Given the description of an element on the screen output the (x, y) to click on. 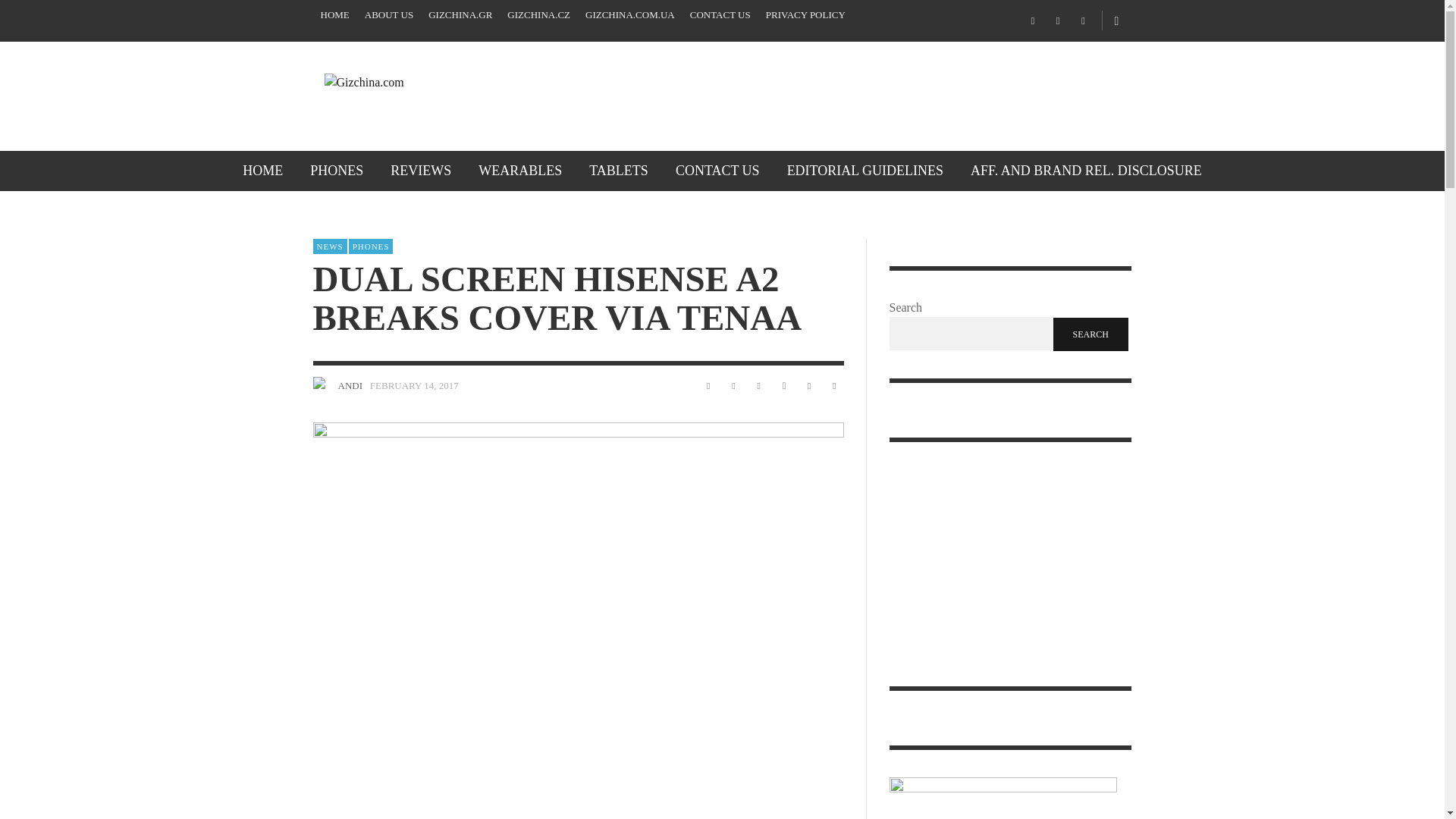
PHONES (337, 170)
GIZCHINA.CZ (538, 15)
CONTACT US (720, 15)
HOME (262, 170)
REVIEWS (420, 170)
GIZCHINA.COM.UA (630, 15)
HOME (334, 15)
PRIVACY POLICY (805, 15)
GIZCHINA.GR (459, 15)
ABOUT US (388, 15)
